Given the description of an element on the screen output the (x, y) to click on. 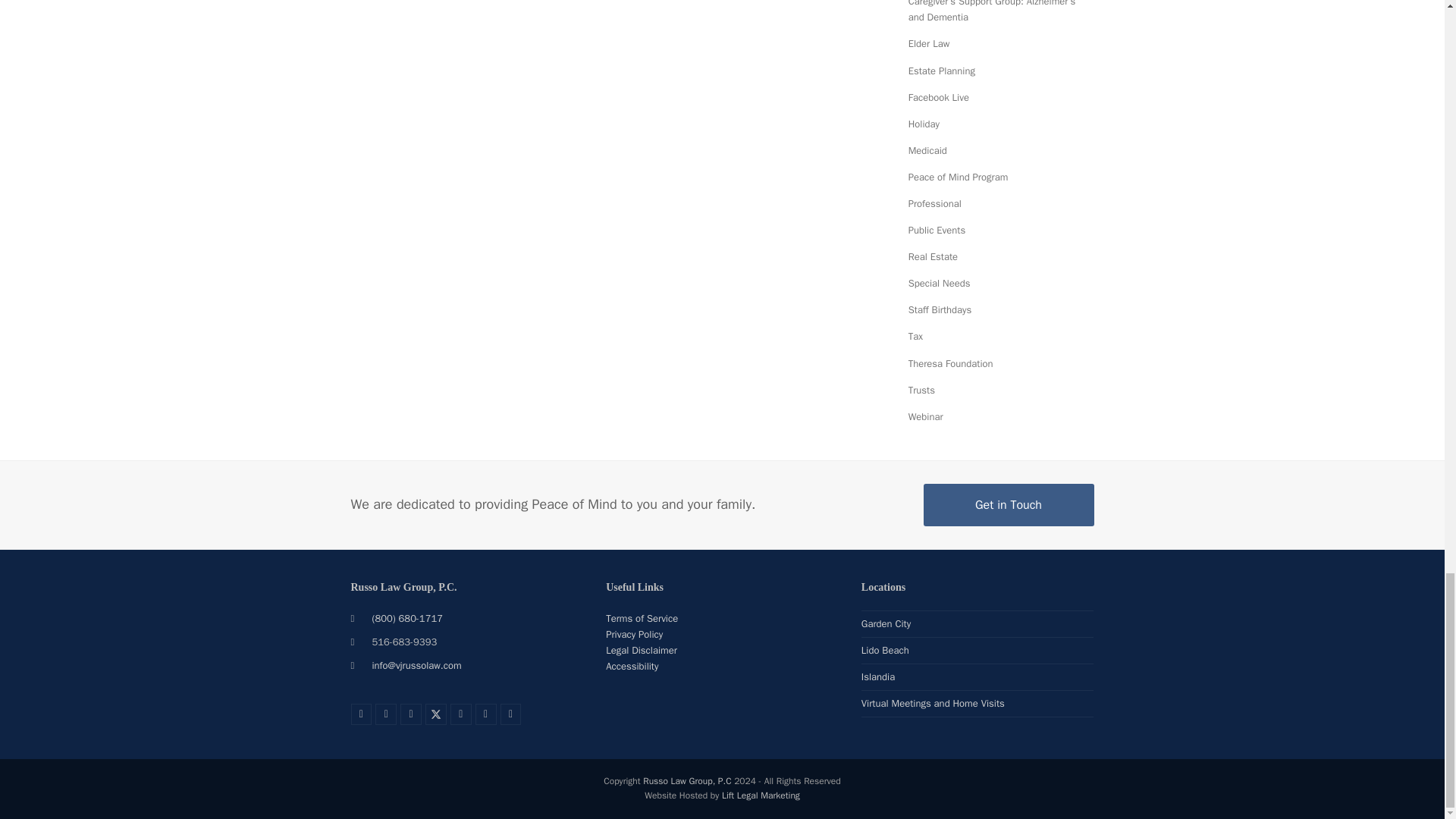
LinkedIn (360, 713)
YouTube (486, 713)
Tiktok (460, 713)
X Twitter (435, 713)
Instagram (385, 713)
Facebook (411, 713)
RSS (510, 713)
